Given the description of an element on the screen output the (x, y) to click on. 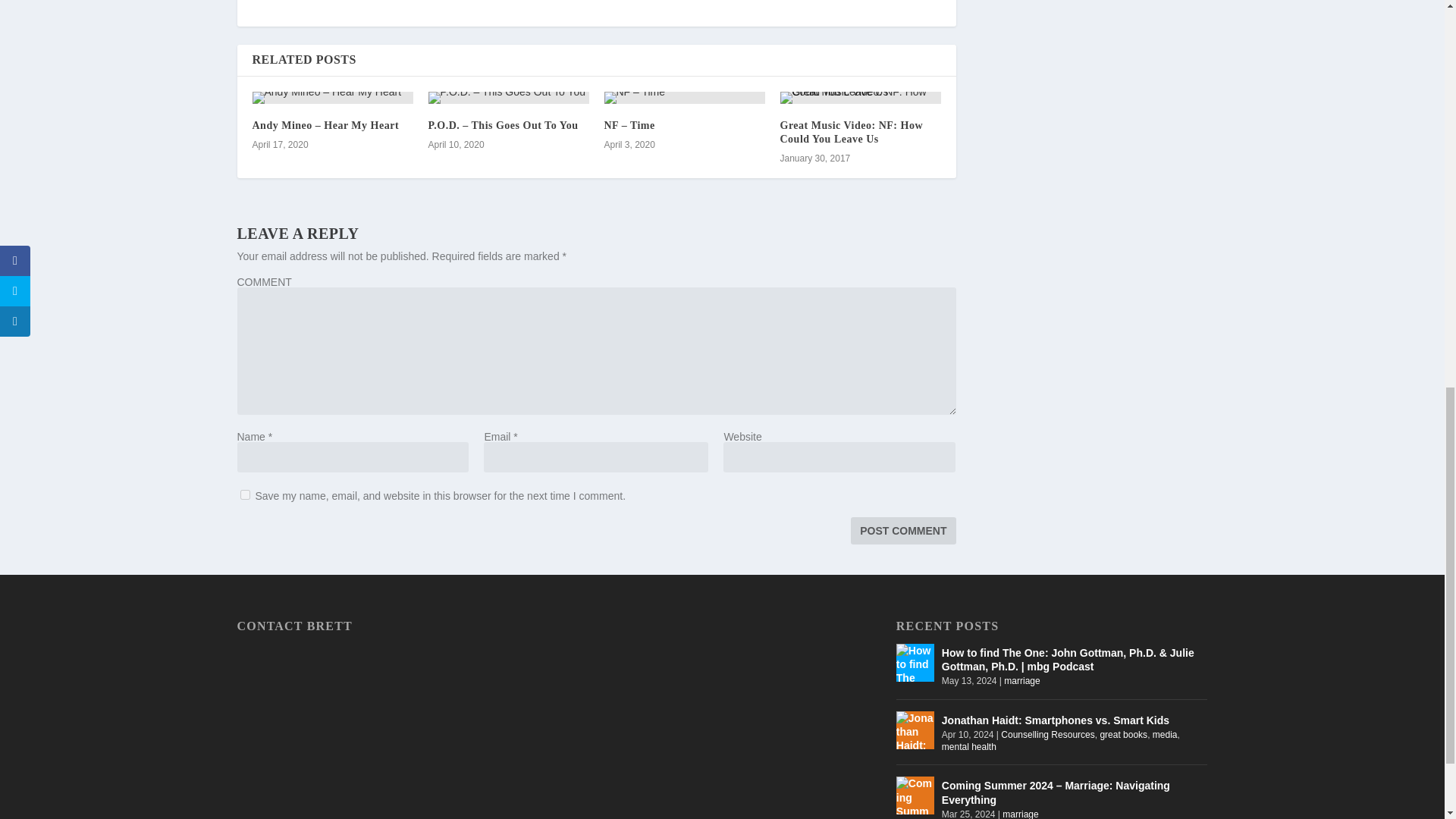
Post Comment (902, 530)
yes (244, 494)
